Given the description of an element on the screen output the (x, y) to click on. 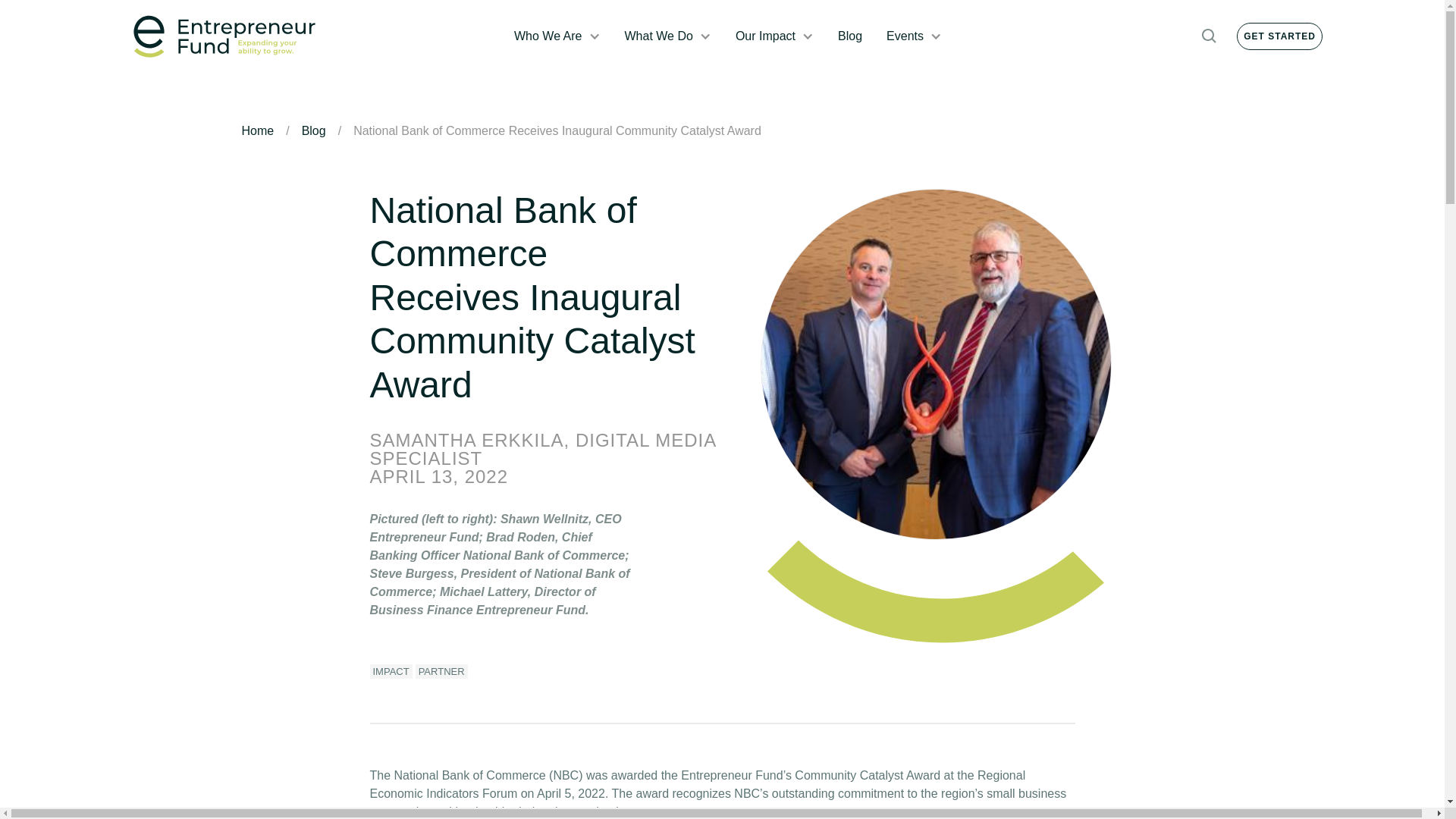
Events (904, 36)
GET STARTED (1279, 35)
Our Impact (764, 36)
Blog (313, 131)
Home (257, 131)
What We Do (658, 36)
Who We Are (547, 36)
Blog (850, 36)
PARTNER (440, 671)
IMPACT (390, 671)
